Given the description of an element on the screen output the (x, y) to click on. 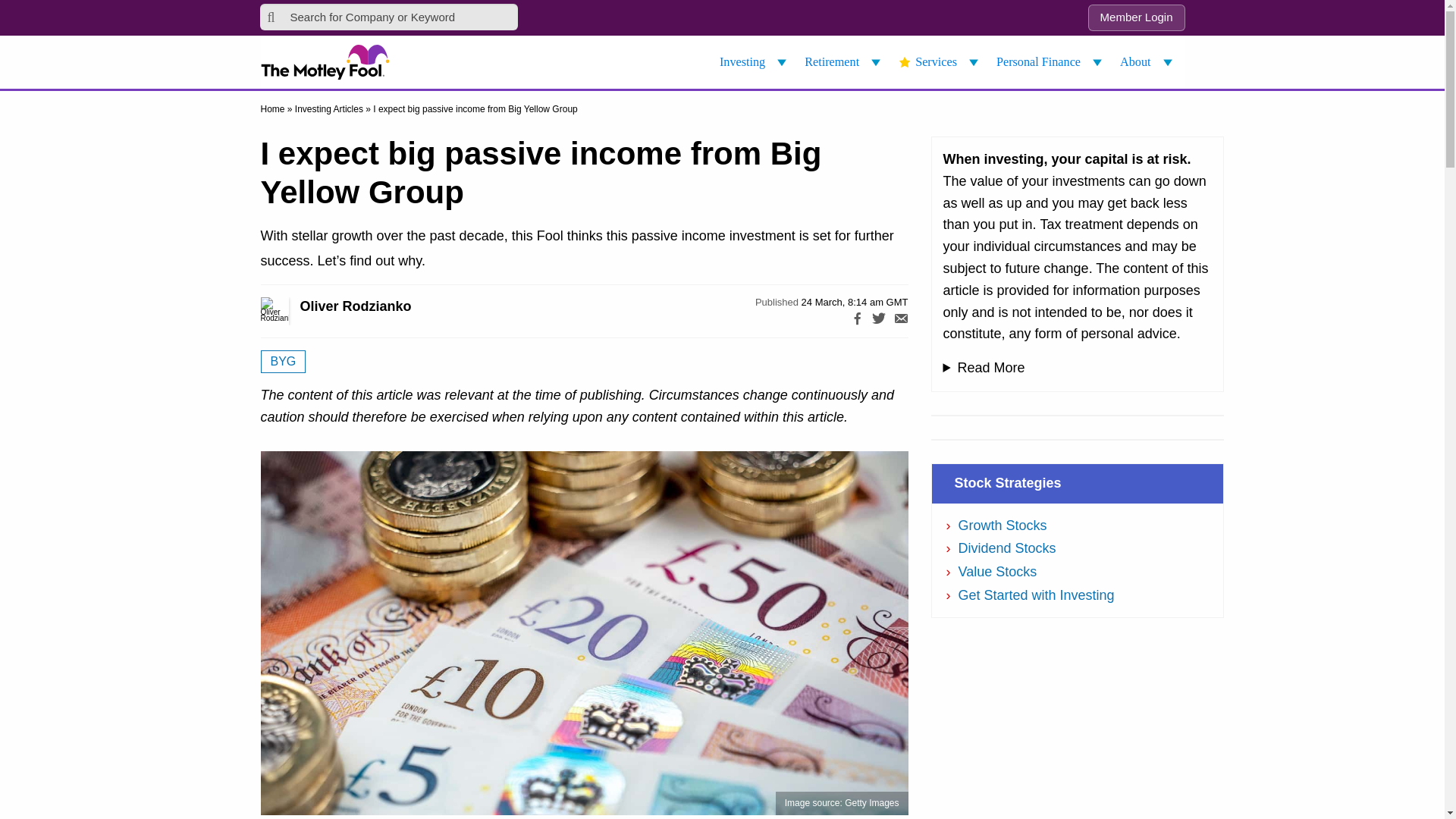
Investing (755, 62)
Services (941, 62)
Member Login (1136, 17)
Retirement (844, 62)
Oliver Rodzianko (290, 311)
See more articles about BYG (282, 361)
